Given the description of an element on the screen output the (x, y) to click on. 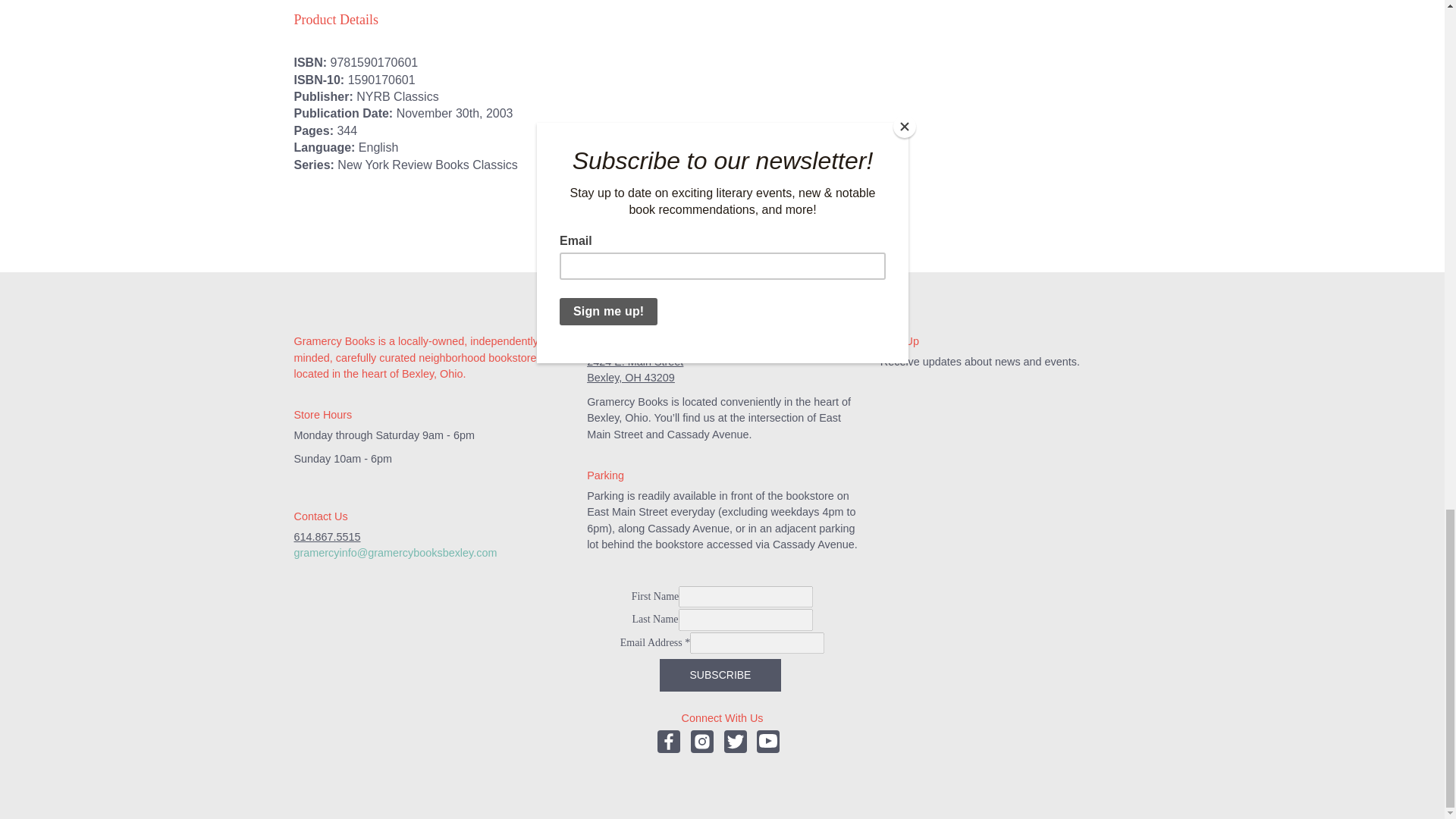
Subscribe (720, 675)
614.867.5515 (327, 536)
